Given the description of an element on the screen output the (x, y) to click on. 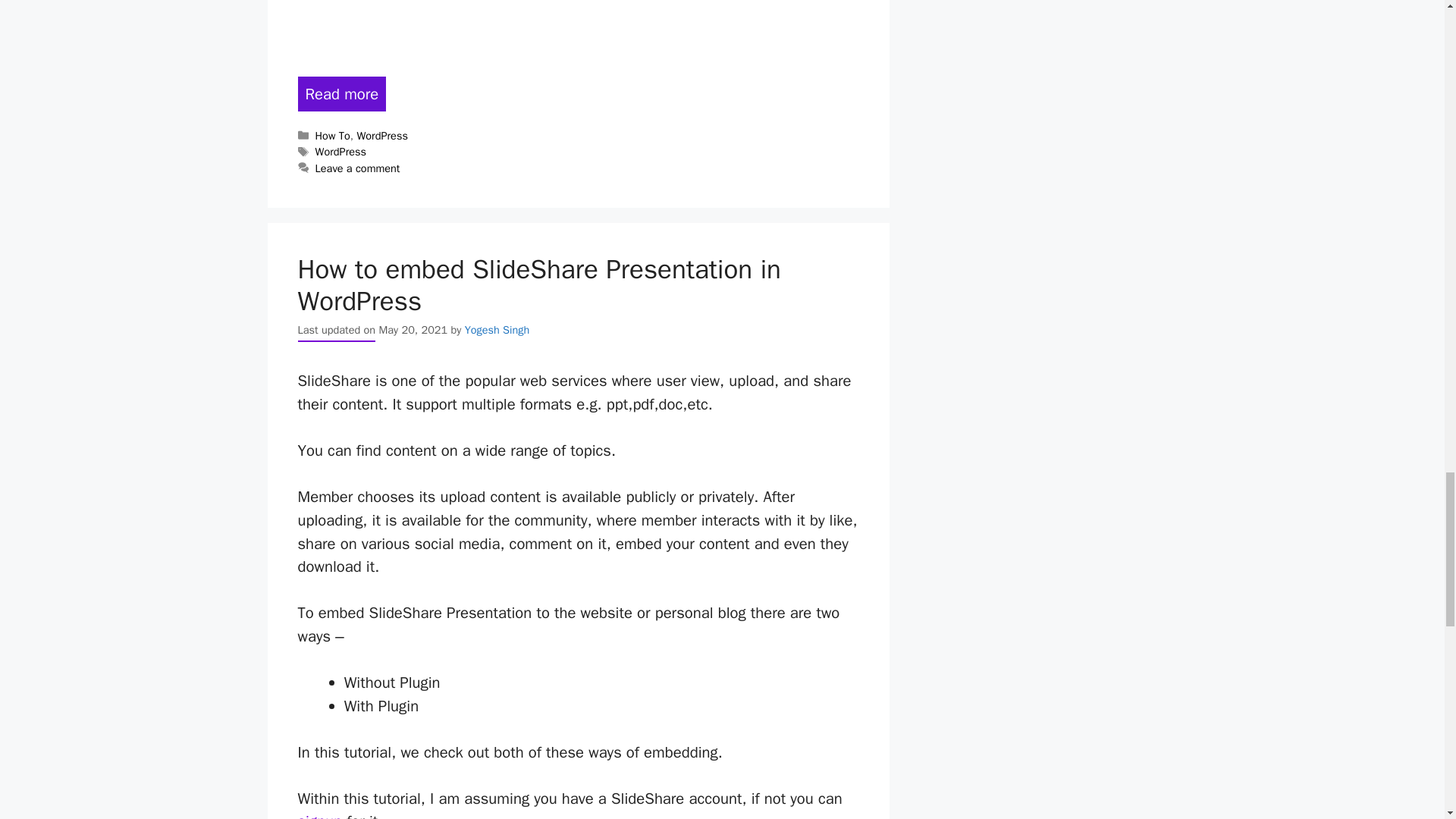
How to Create custom Shortcode in WordPress (341, 93)
View all posts by Yogesh Singh (496, 329)
